Given the description of an element on the screen output the (x, y) to click on. 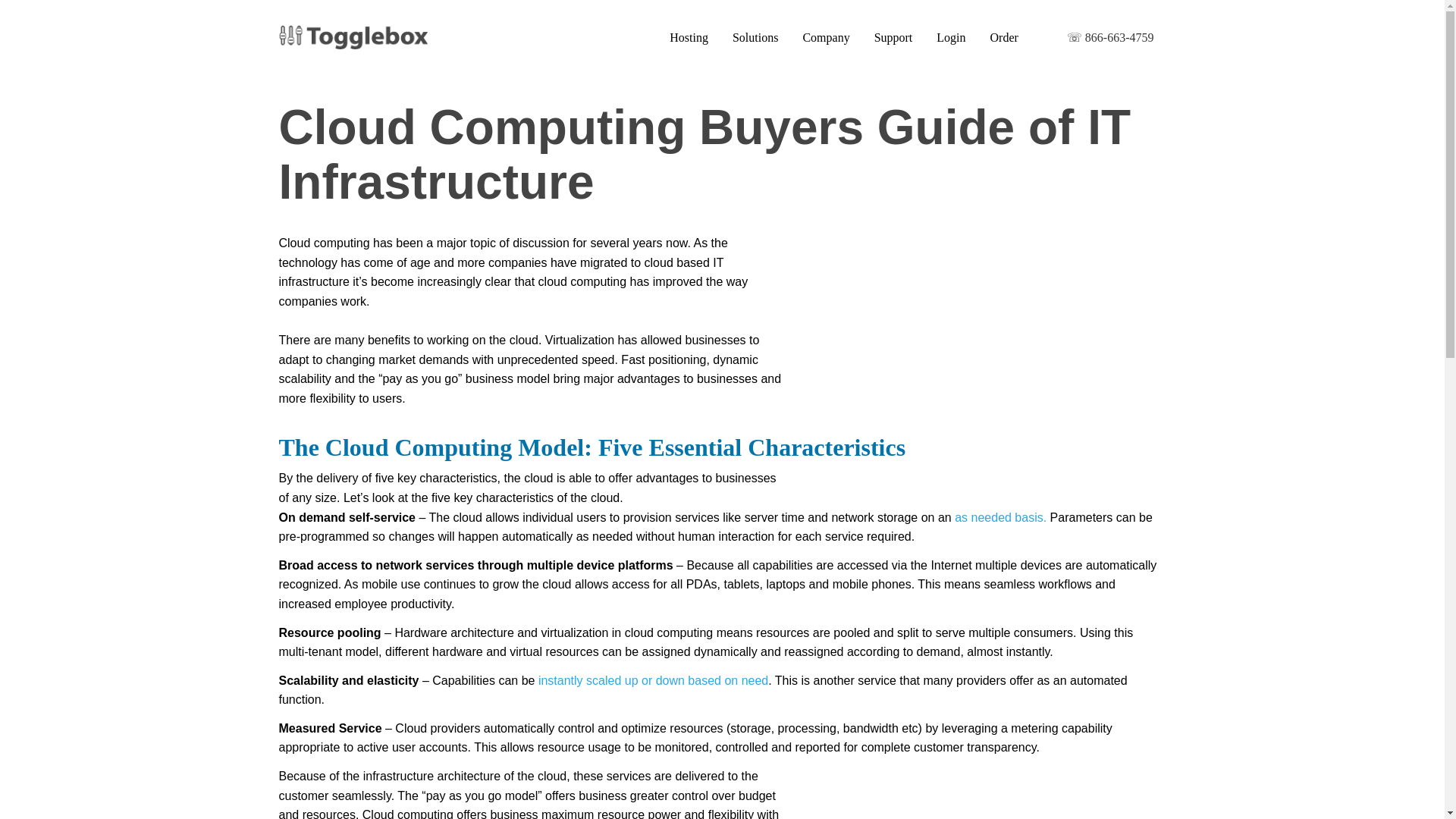
Solutions (754, 37)
Hosting (688, 37)
Togglebox (353, 36)
